Given the description of an element on the screen output the (x, y) to click on. 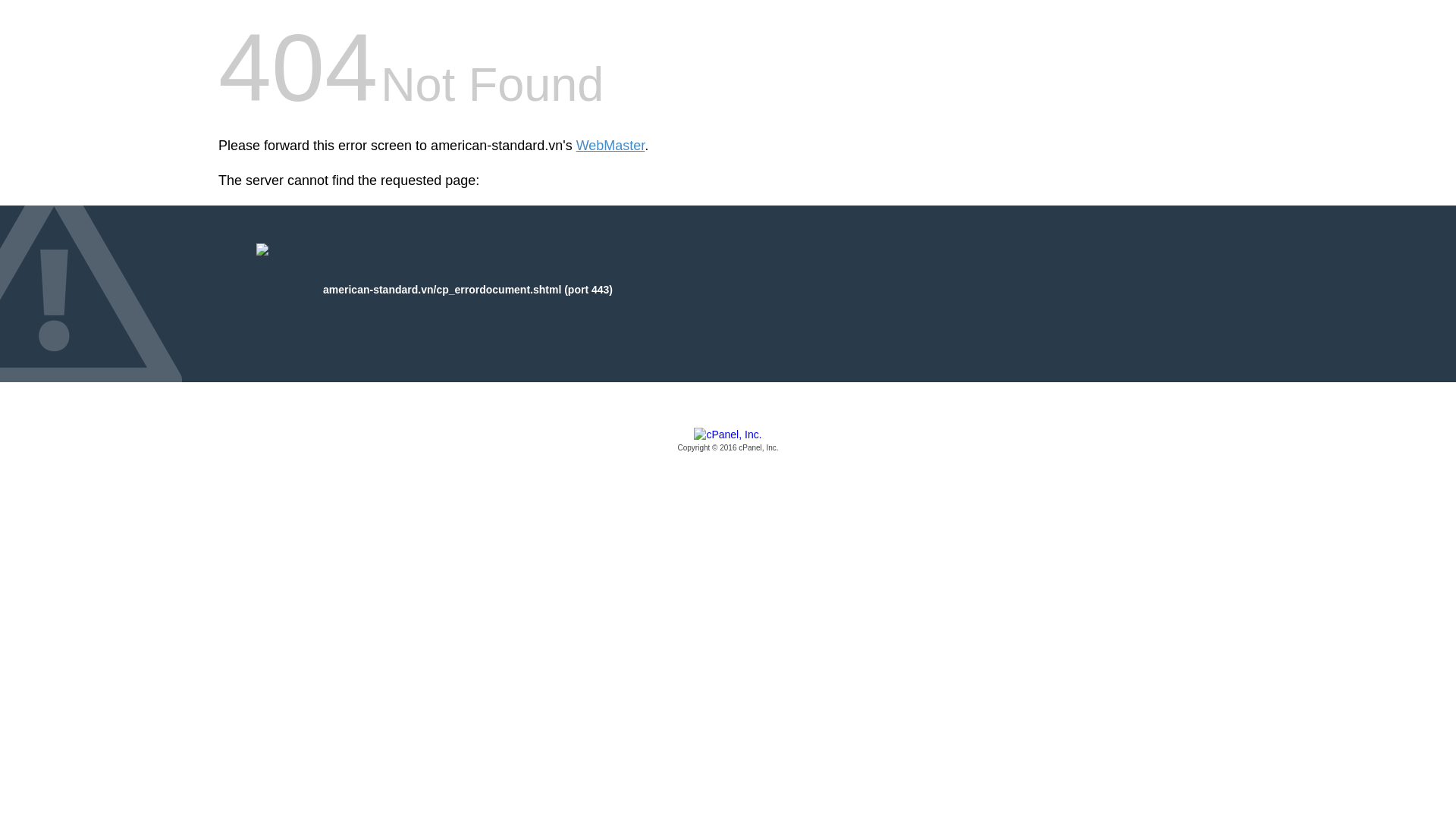
WebMaster (610, 145)
cPanel, Inc. (727, 440)
